Given the description of an element on the screen output the (x, y) to click on. 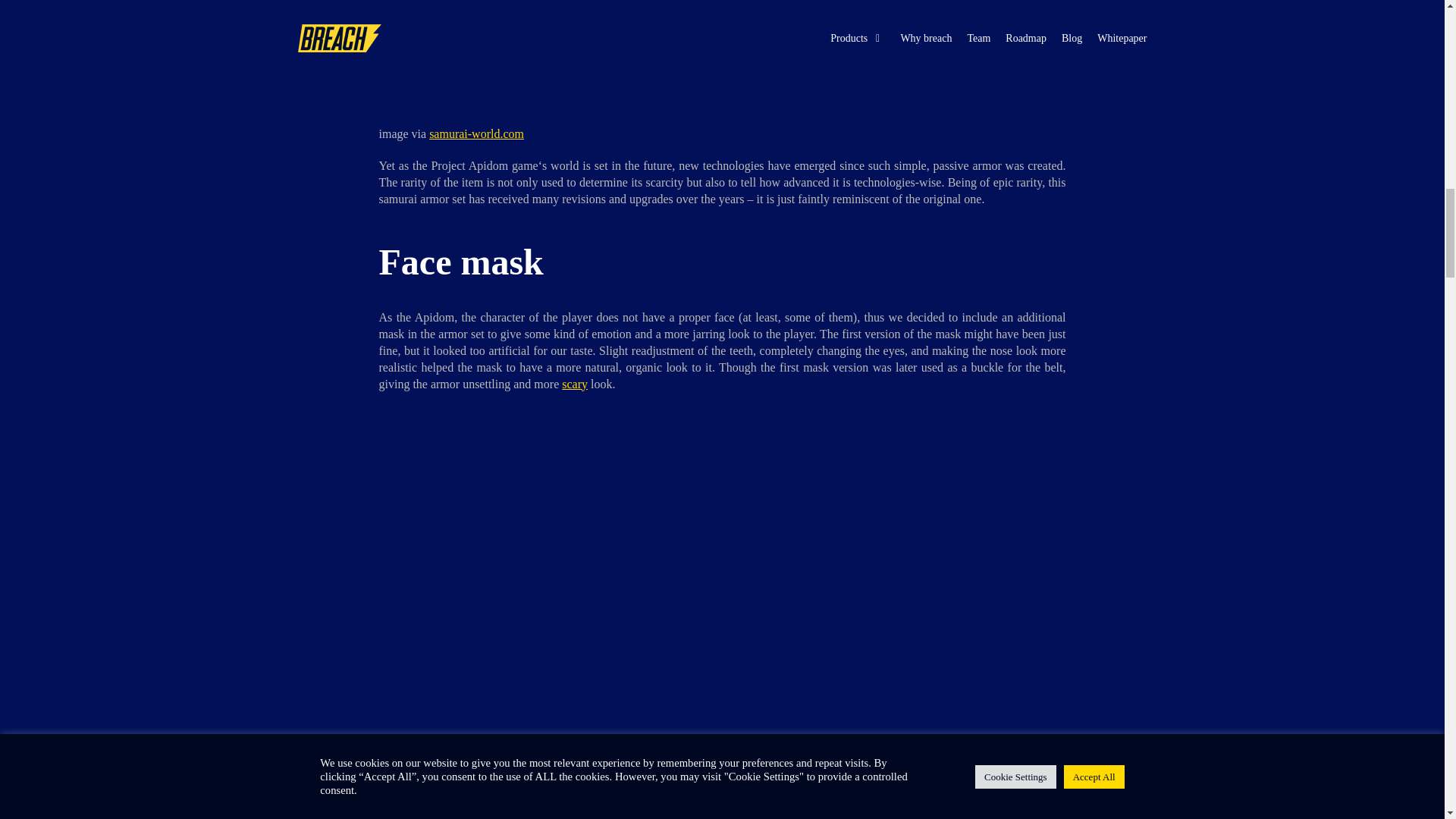
scary (575, 383)
samurai-world.com (476, 133)
